Given the description of an element on the screen output the (x, y) to click on. 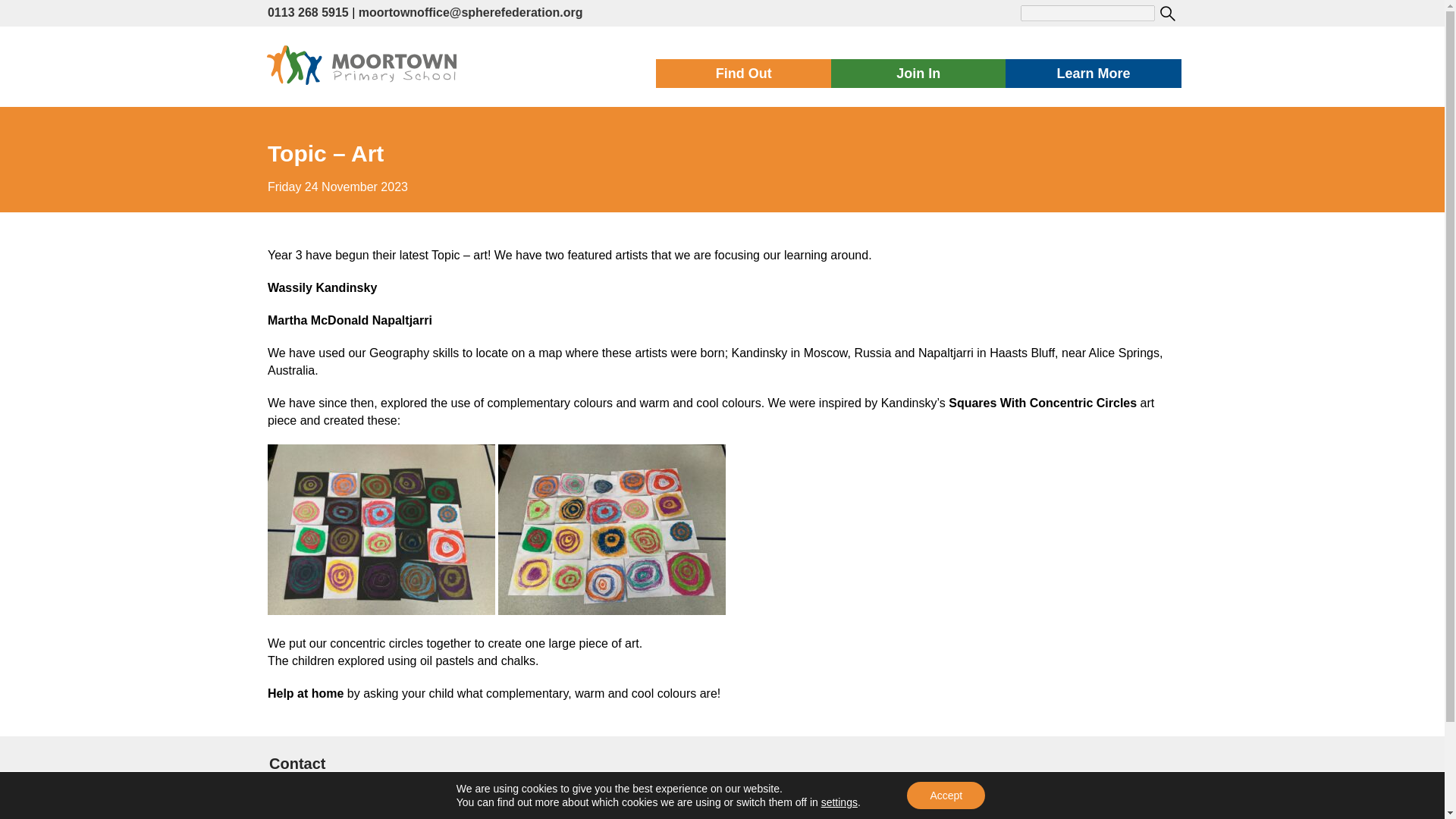
0113 268 5915 (308, 11)
